Given the description of an element on the screen output the (x, y) to click on. 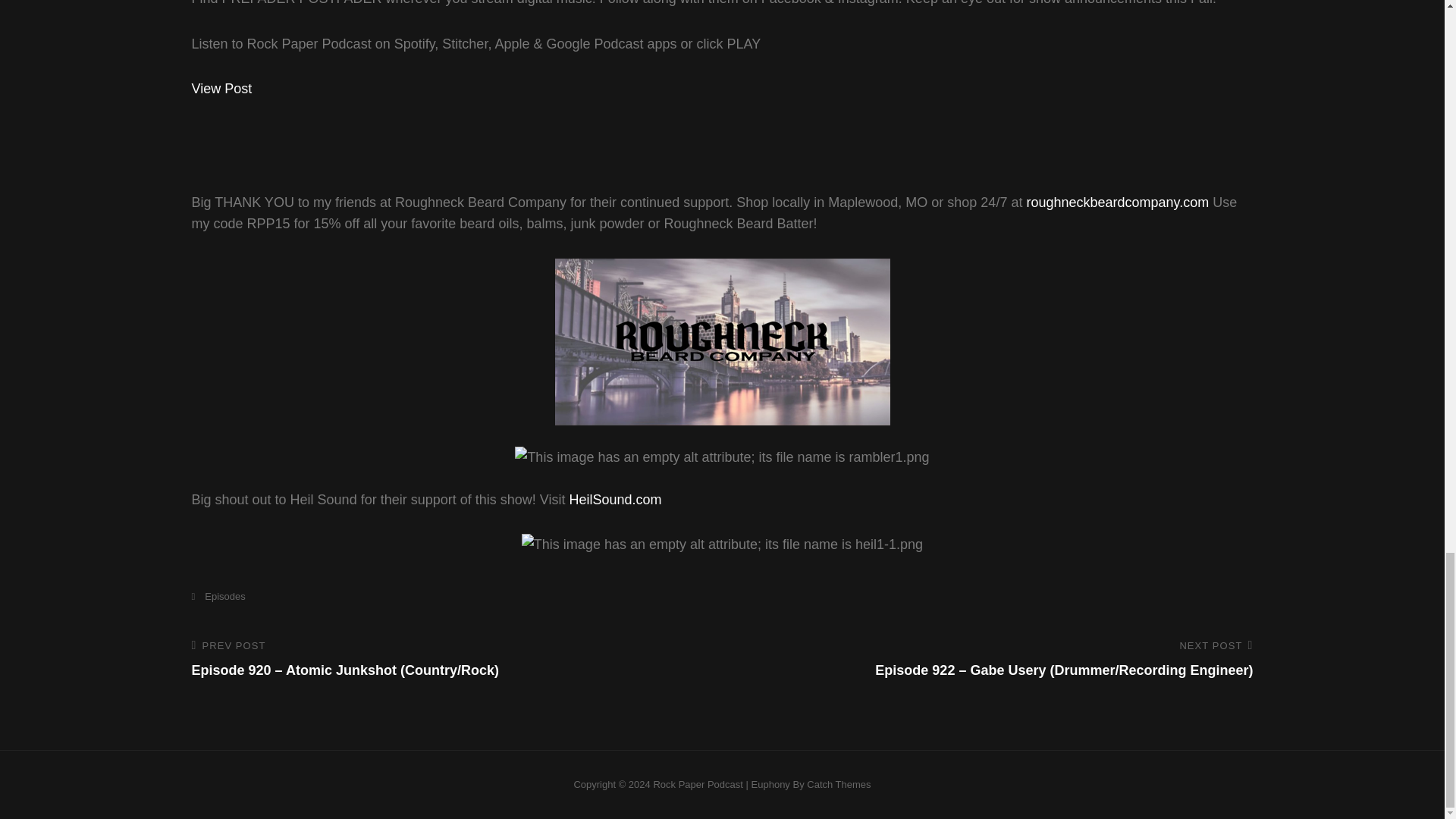
HeilSound.com (615, 499)
roughneckbeardcompany.com (1117, 201)
Catch Themes (838, 784)
View Post (220, 88)
Episodes (217, 595)
Rock Paper Podcast (697, 784)
